Given the description of an element on the screen output the (x, y) to click on. 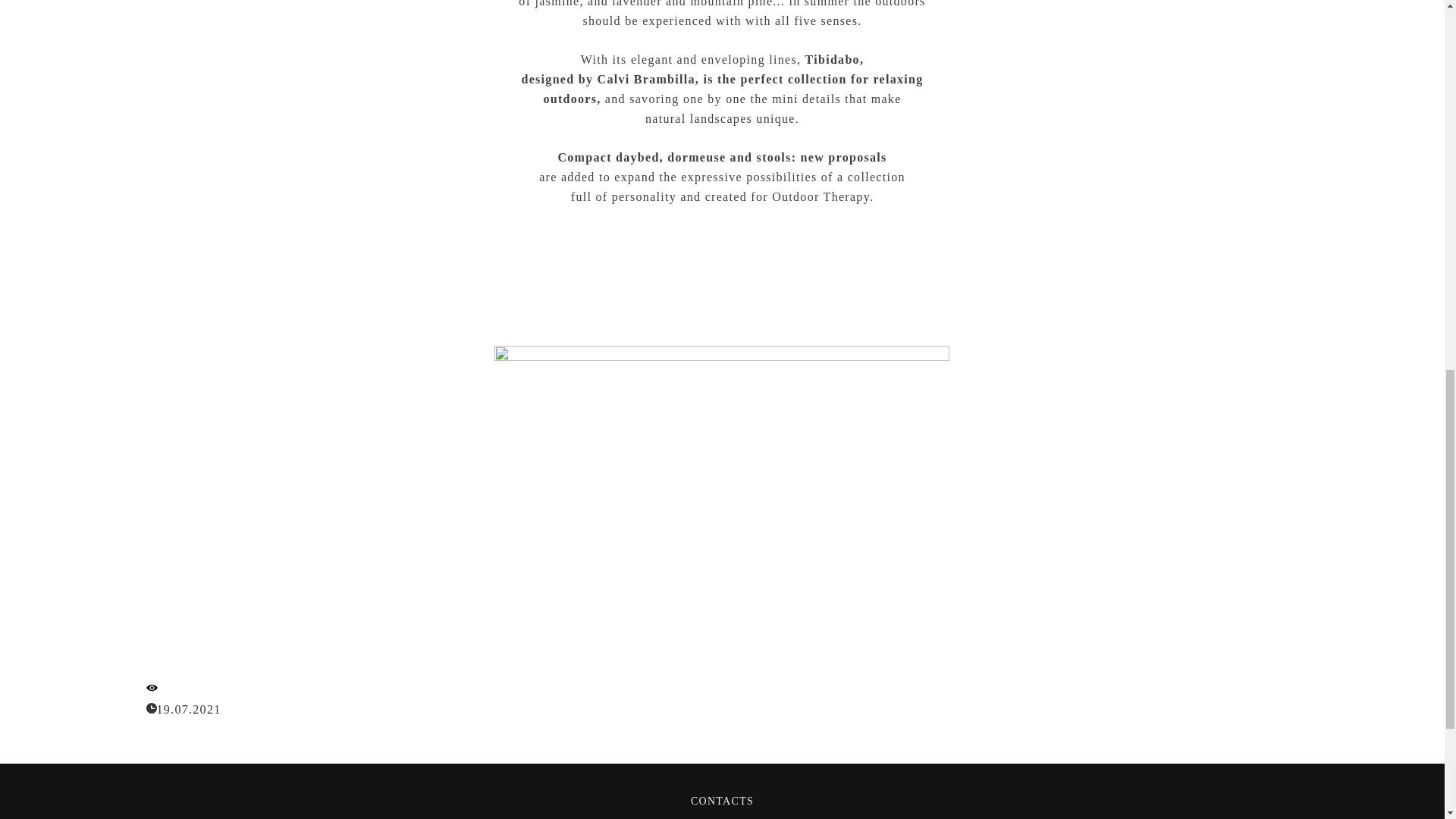
CONTACTS (722, 799)
